Given the description of an element on the screen output the (x, y) to click on. 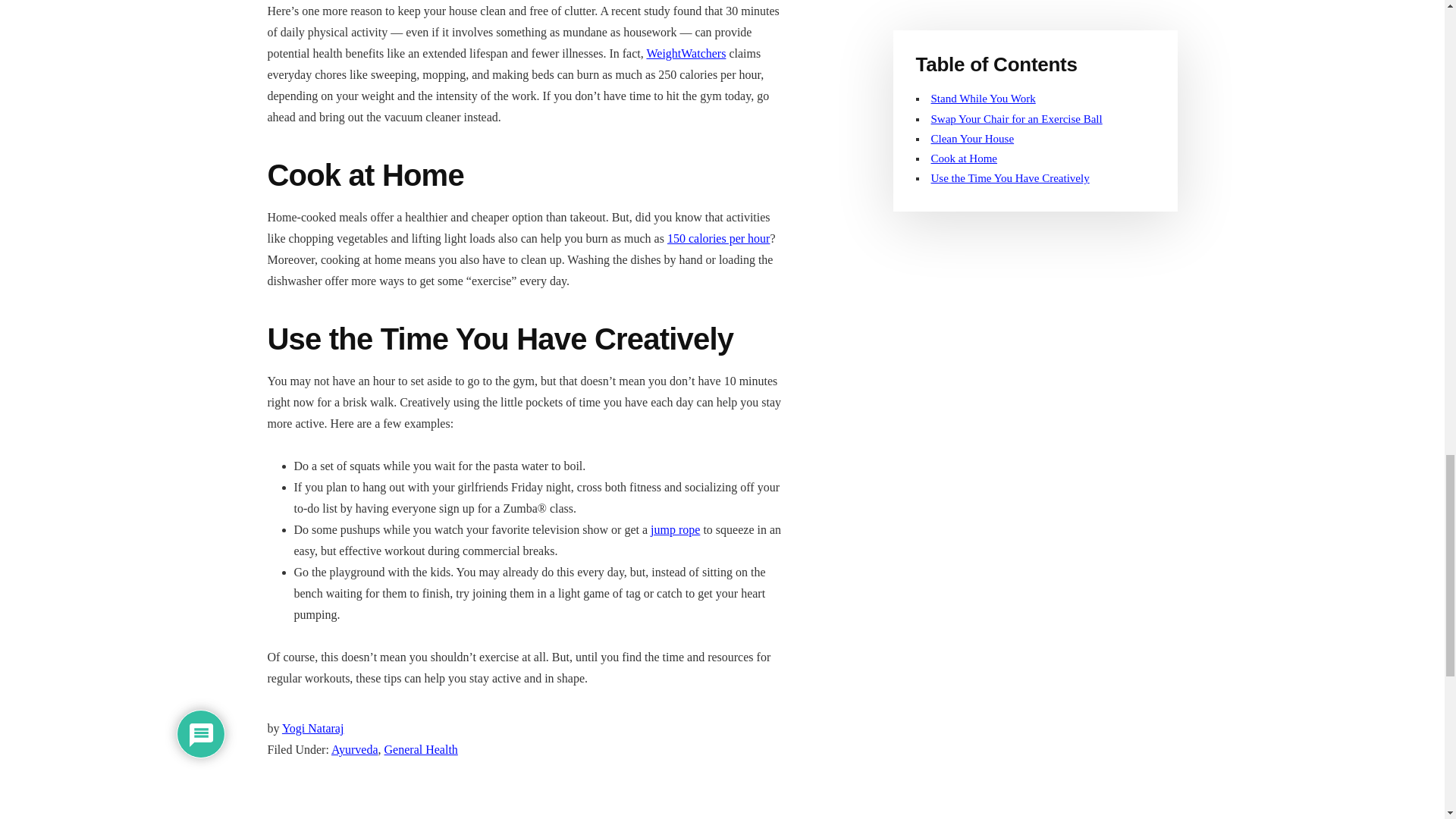
150 calories per hour (718, 237)
WeightWatchers (685, 52)
jump rope (675, 529)
